Given the description of an element on the screen output the (x, y) to click on. 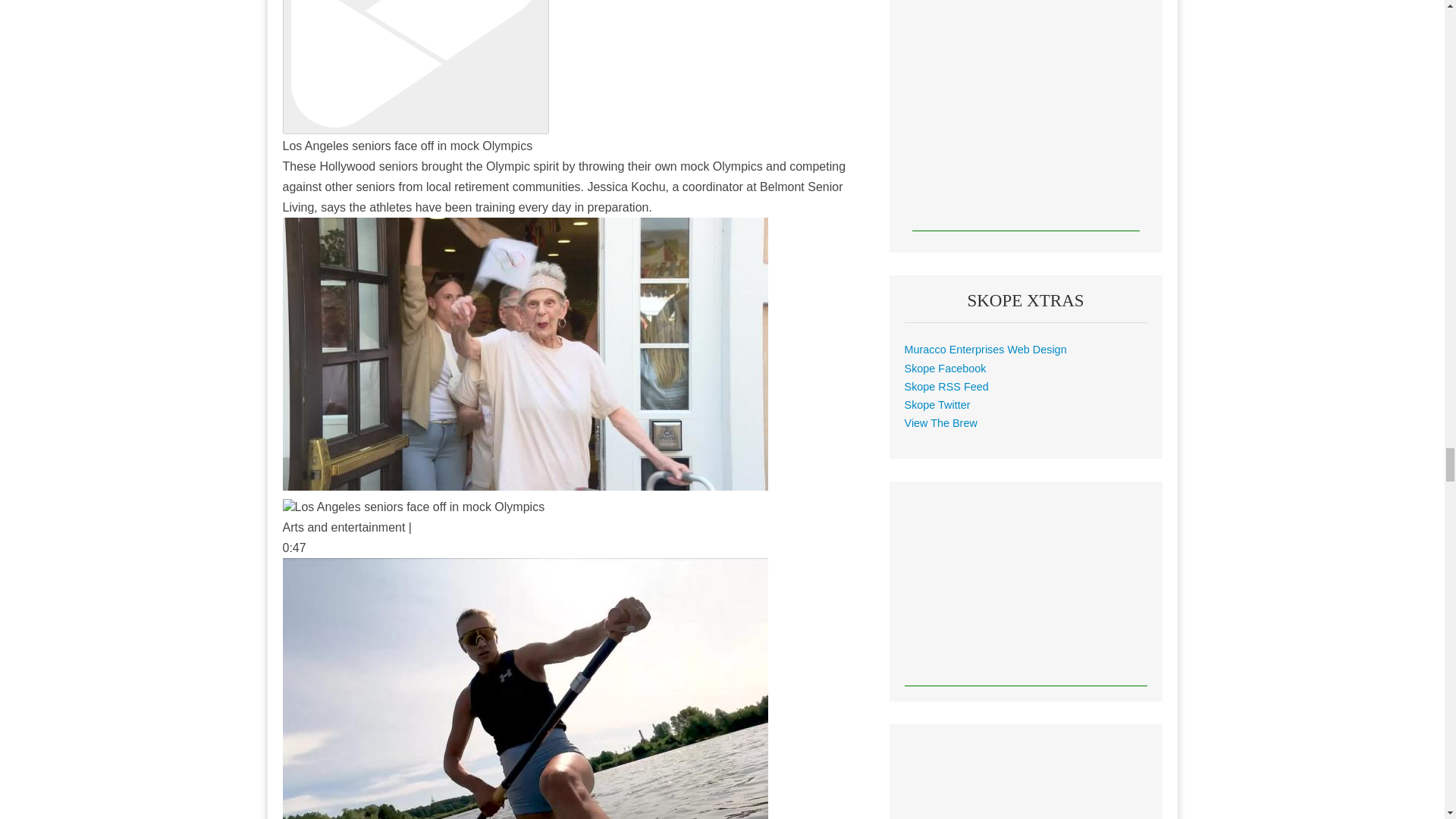
Skopemag.com RSS Feed (946, 386)
